Given the description of an element on the screen output the (x, y) to click on. 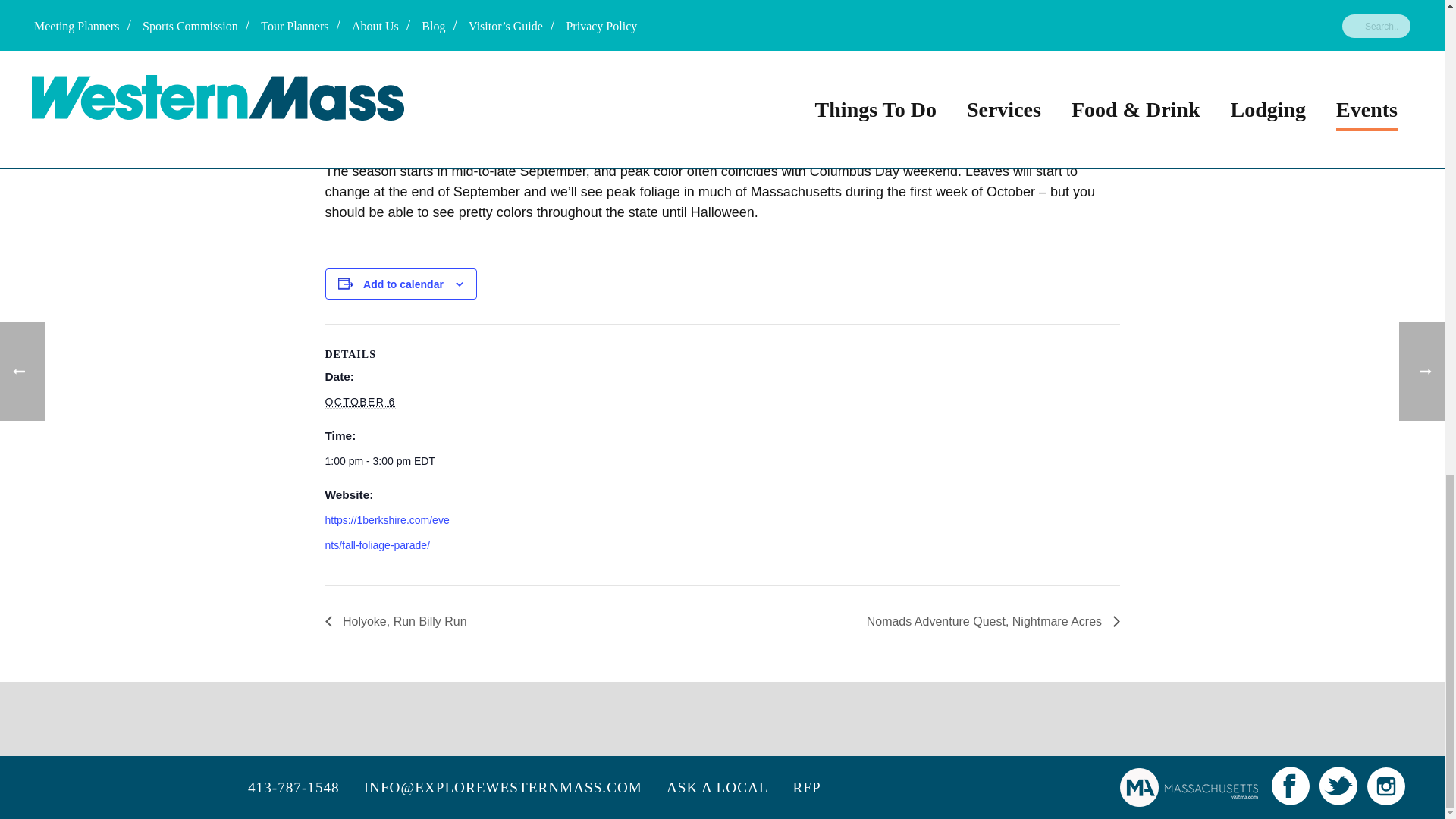
2024-10-06 (359, 401)
2024-10-06 (387, 461)
